Given the description of an element on the screen output the (x, y) to click on. 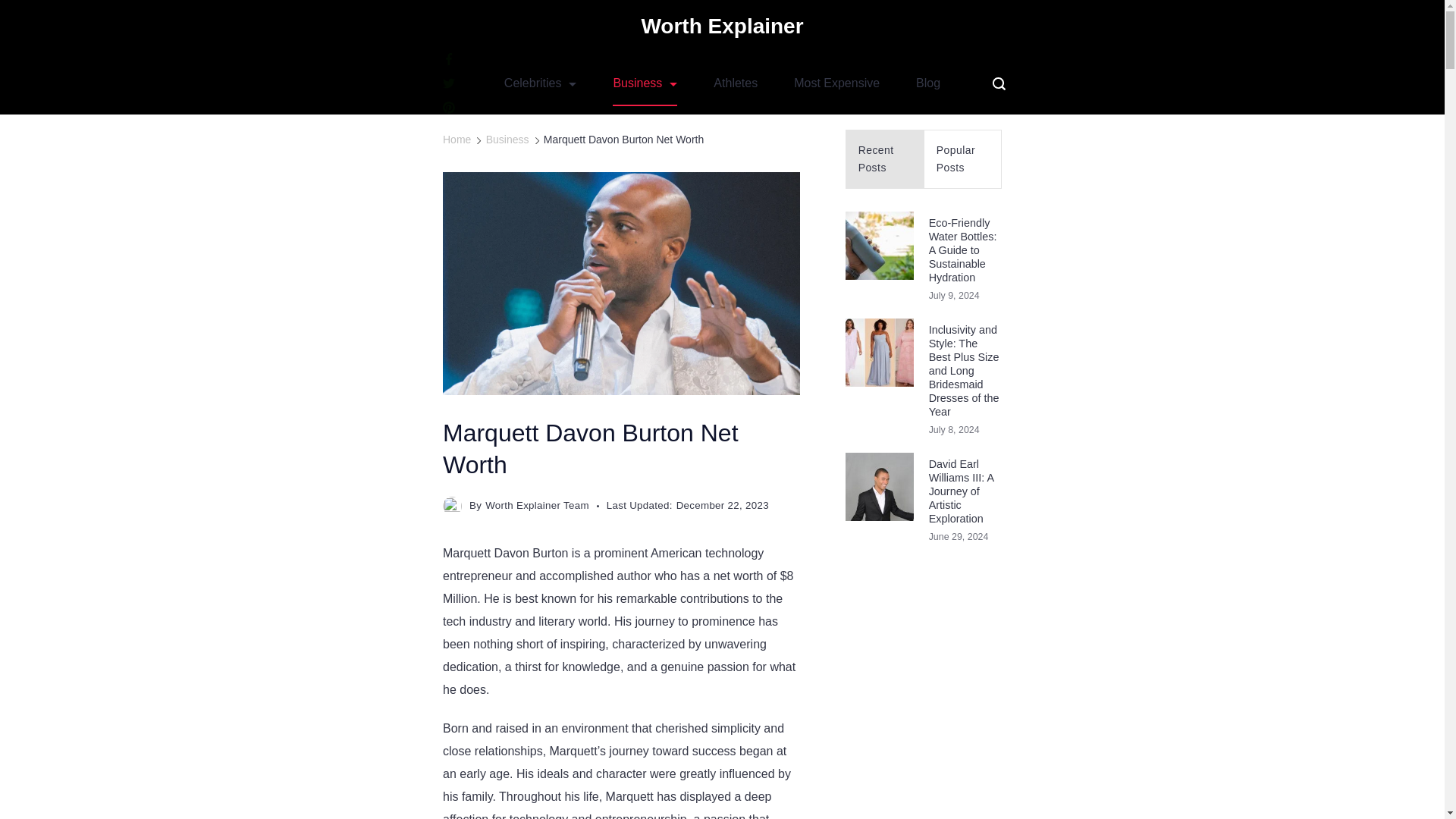
Celebrities (540, 82)
Worth Explainer (721, 25)
Business (644, 82)
Blog (928, 82)
Athletes (735, 82)
Most Expensive (837, 82)
